Given the description of an element on the screen output the (x, y) to click on. 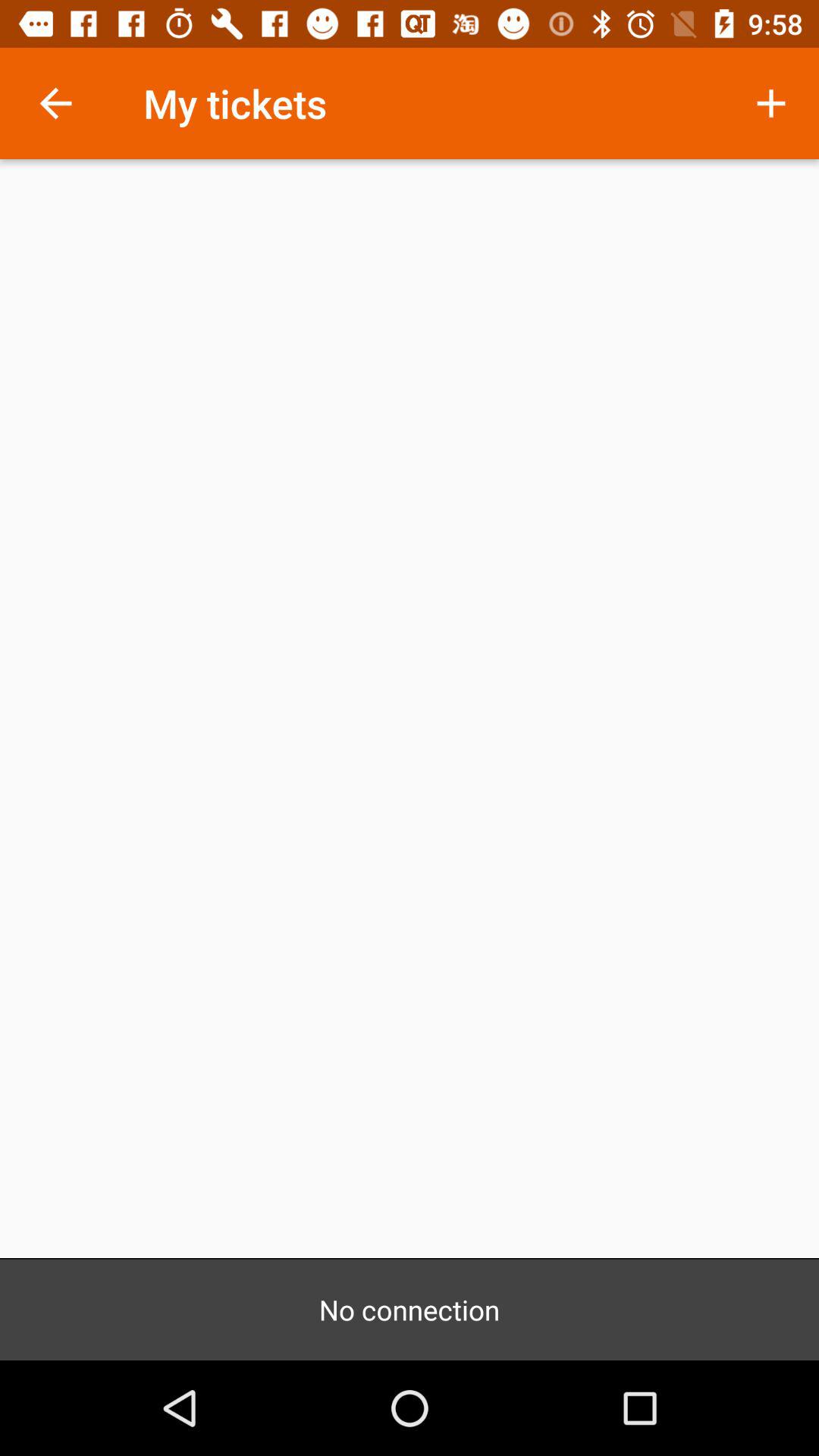
tap icon next to the my tickets (771, 103)
